Given the description of an element on the screen output the (x, y) to click on. 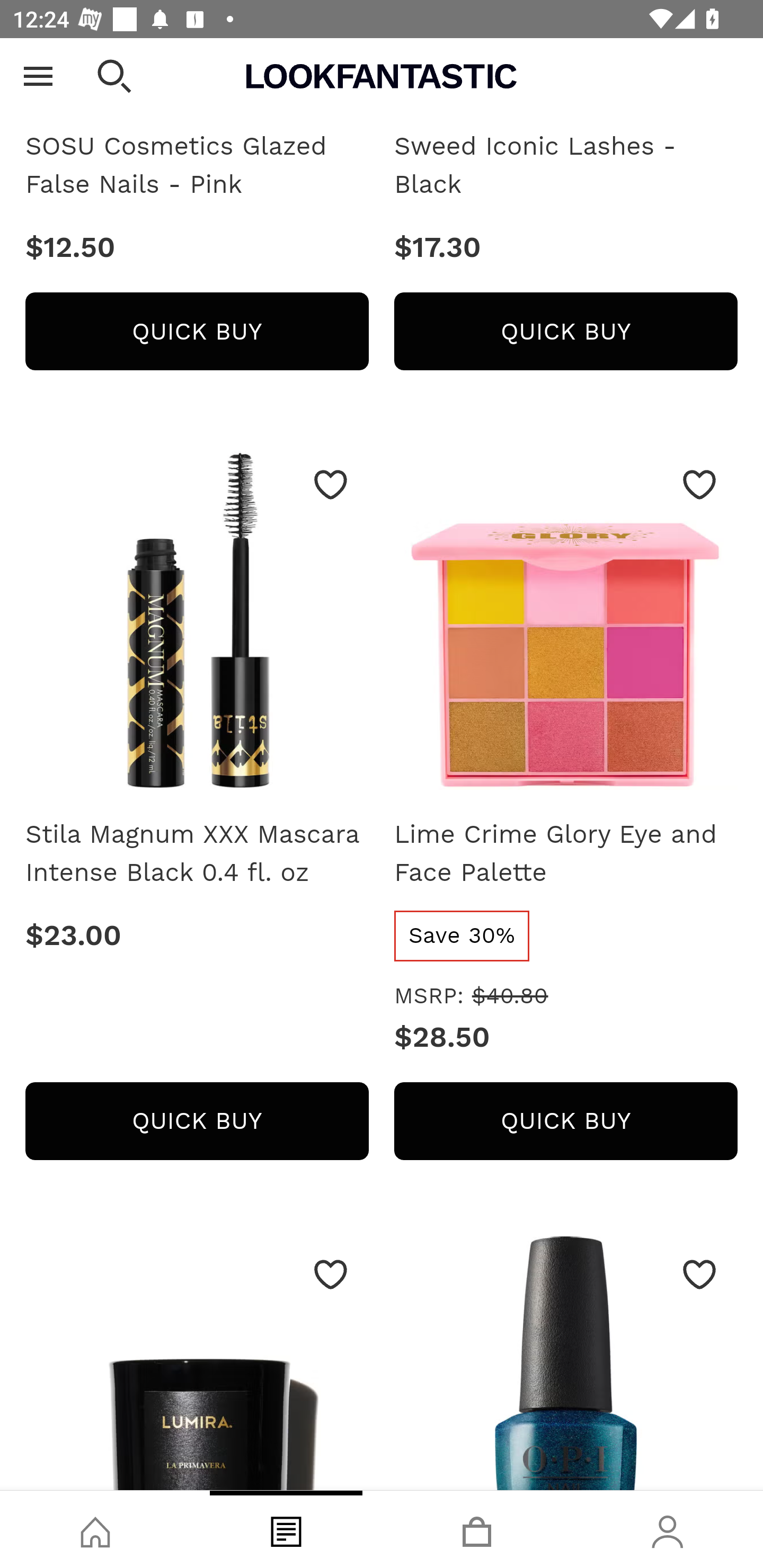
SOSU Cosmetics Glazed False Nails - Pink (196, 70)
Sweed Iconic Lashes - Black (565, 70)
SOSU Cosmetics Glazed False Nails - Pink (196, 165)
Sweed Iconic Lashes - Black (565, 165)
Price: $12.50 (196, 248)
Price: $17.30 (565, 248)
QUICK BUY SOSU COSMETICS GLAZED FALSE NAILS - PINK (196, 331)
QUICK BUY SWEED ICONIC LASHES - BLACK (565, 331)
Stila Magnum XXX Mascara Intense Black 0.4 fl. oz (196, 625)
Lime Crime Glory Eye and Face Palette (565, 625)
Save to Wishlist (330, 485)
Save to Wishlist (698, 485)
Stila Magnum XXX Mascara Intense Black 0.4 fl. oz (196, 854)
Lime Crime Glory Eye and Face Palette (565, 854)
Save 30%, read more (462, 936)
Price: $23.00 (196, 936)
QUICK BUY LIME CRIME GLORY EYE AND FACE PALETTE (565, 1121)
LUMIRA La Primavera Black Candle 300g (196, 1364)
Save to Wishlist (330, 1275)
Save to Wishlist (698, 1275)
Shop, tab, 1 of 4 (95, 1529)
Blog, tab, 2 of 4 (285, 1529)
Basket, tab, 3 of 4 (476, 1529)
Account, tab, 4 of 4 (667, 1529)
